Given the description of an element on the screen output the (x, y) to click on. 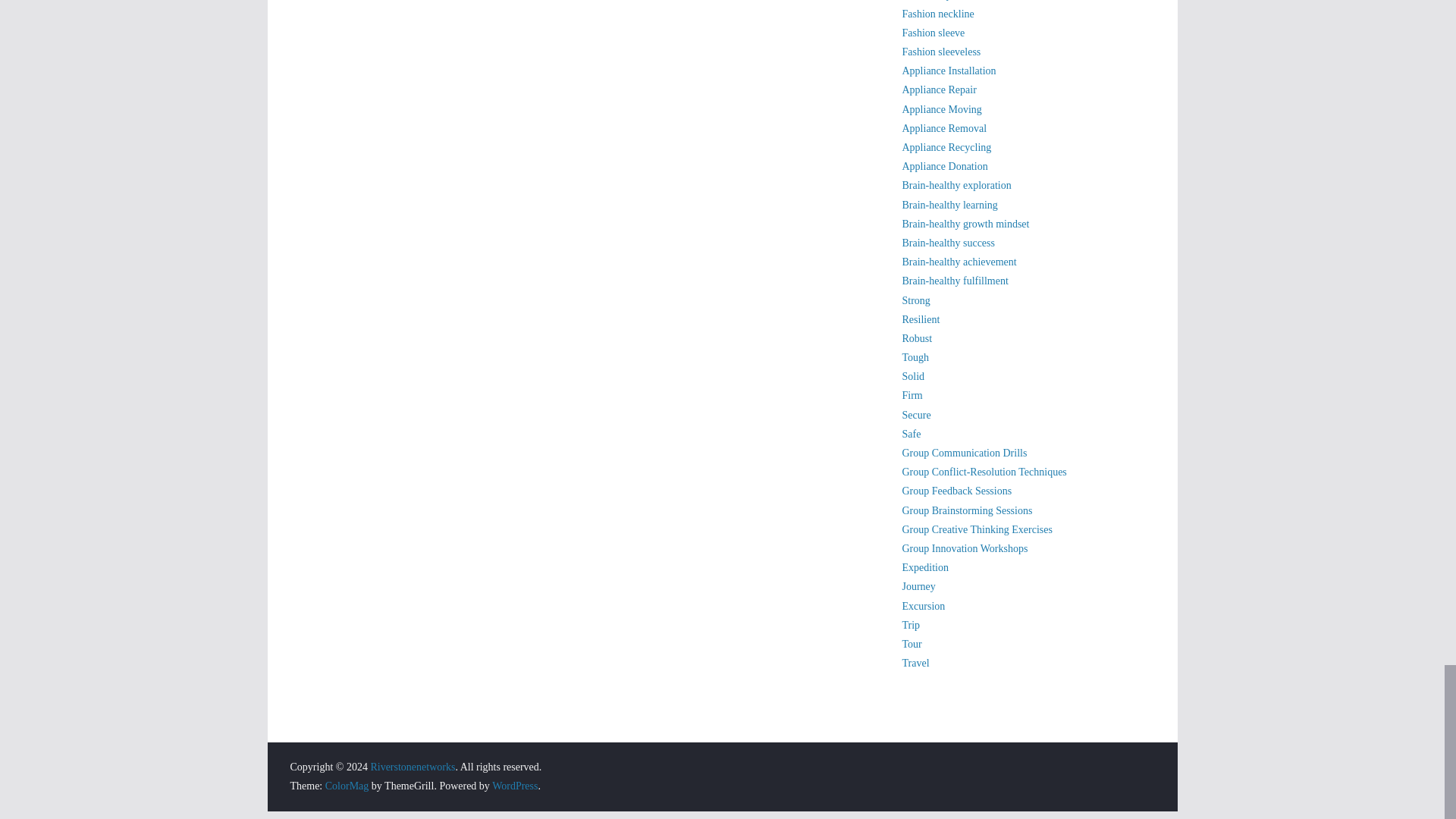
WordPress (514, 785)
ColorMag (346, 785)
Riverstonenetworks (411, 767)
